Given the description of an element on the screen output the (x, y) to click on. 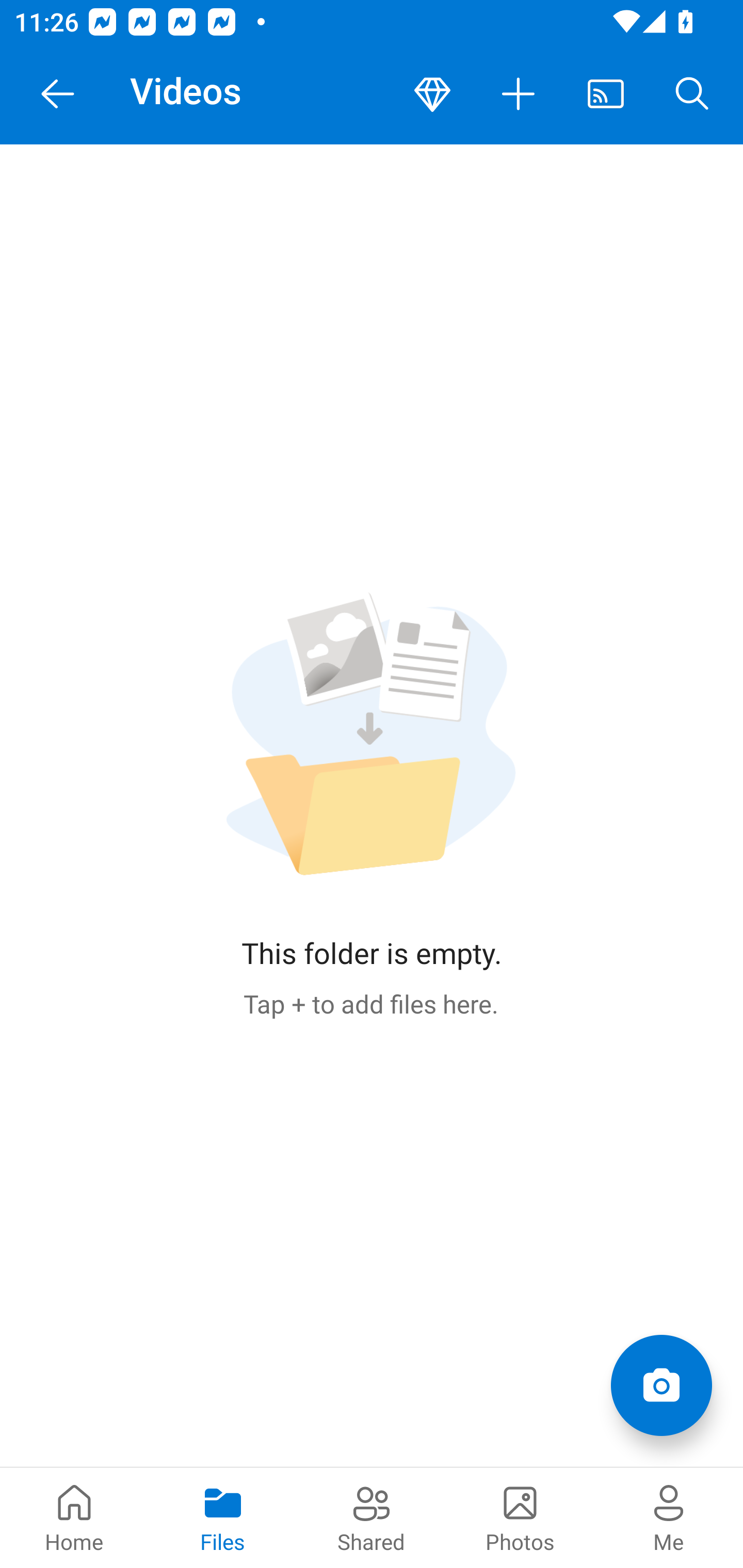
Navigate Up (57, 93)
Cast. Disconnected (605, 93)
Premium button (432, 93)
More actions button (518, 93)
Search button (692, 93)
Add items Scan (660, 1385)
Home pivot Home (74, 1517)
Shared pivot Shared (371, 1517)
Photos pivot Photos (519, 1517)
Me pivot Me (668, 1517)
